Given the description of an element on the screen output the (x, y) to click on. 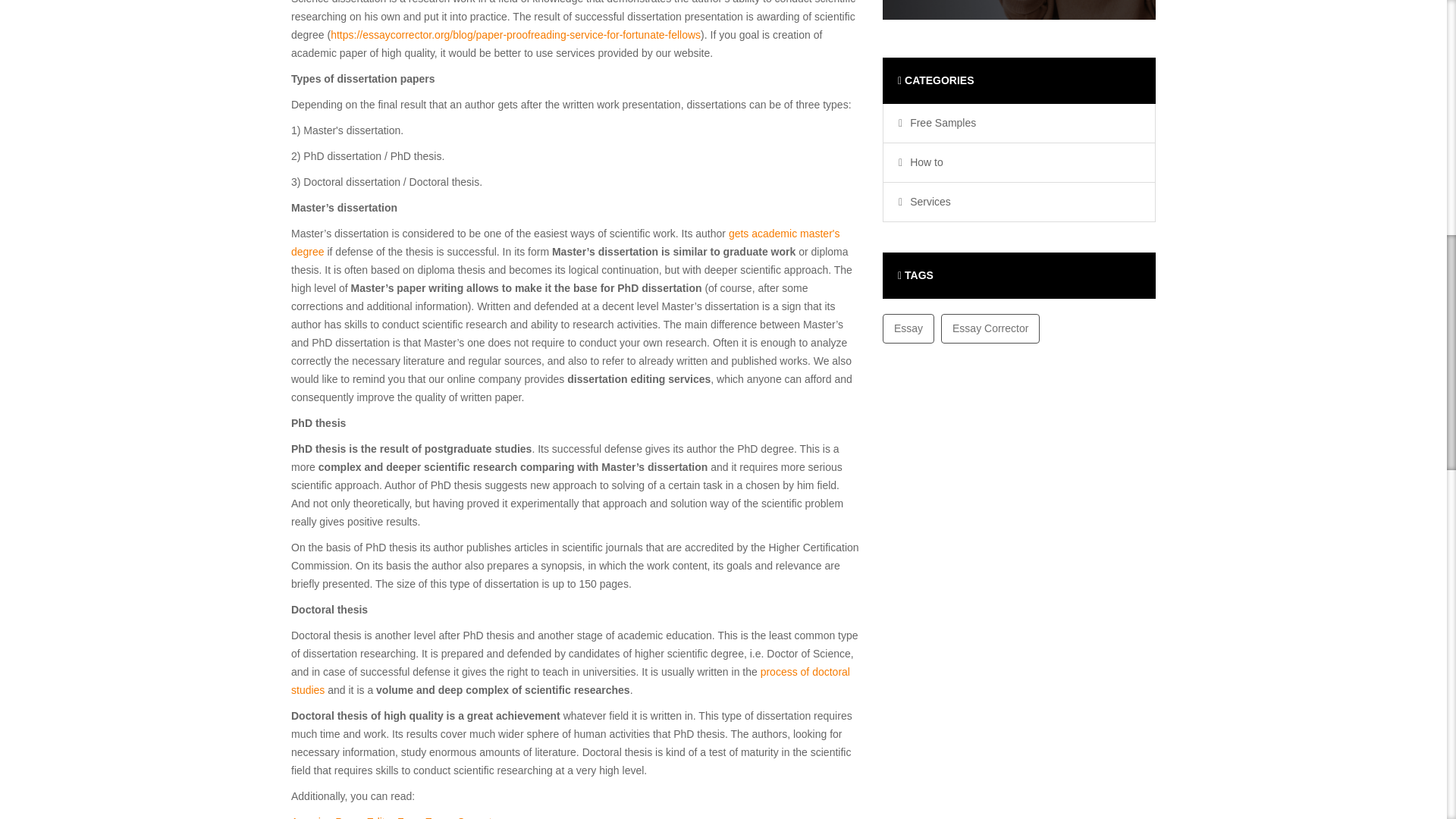
gets academic master's degree (565, 242)
Essay (908, 328)
Services (926, 201)
How to (922, 162)
Essay Corrector (989, 328)
process of doctoral studies (570, 680)
Free Samples (938, 122)
Amazing Paper Editor From Essay Corrector (395, 817)
